Given the description of an element on the screen output the (x, y) to click on. 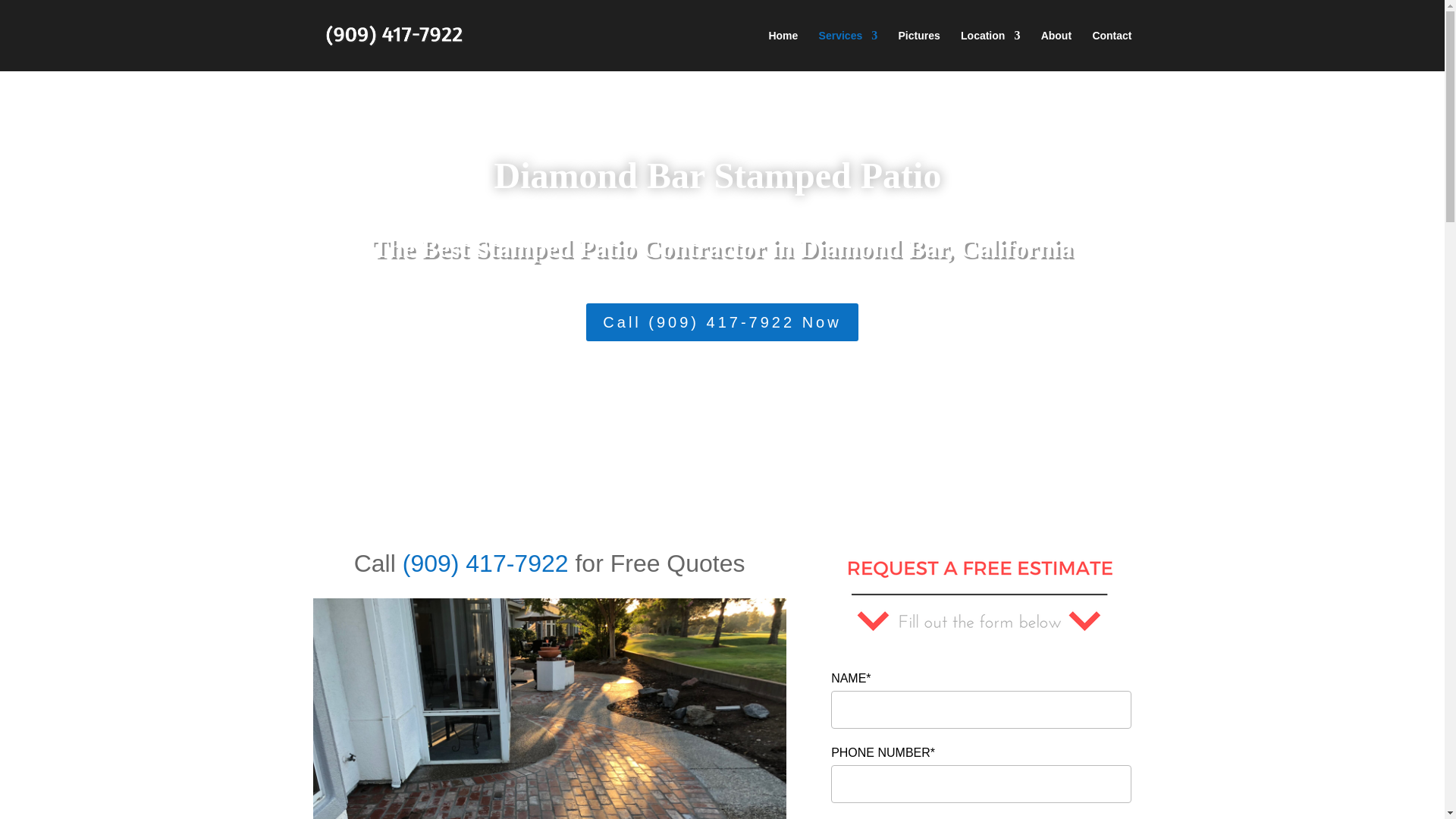
Stamped Patio in Diamond Bar. (549, 708)
Home (782, 50)
quote form (981, 597)
Services (847, 50)
Location (990, 50)
Pictures (918, 50)
